Given the description of an element on the screen output the (x, y) to click on. 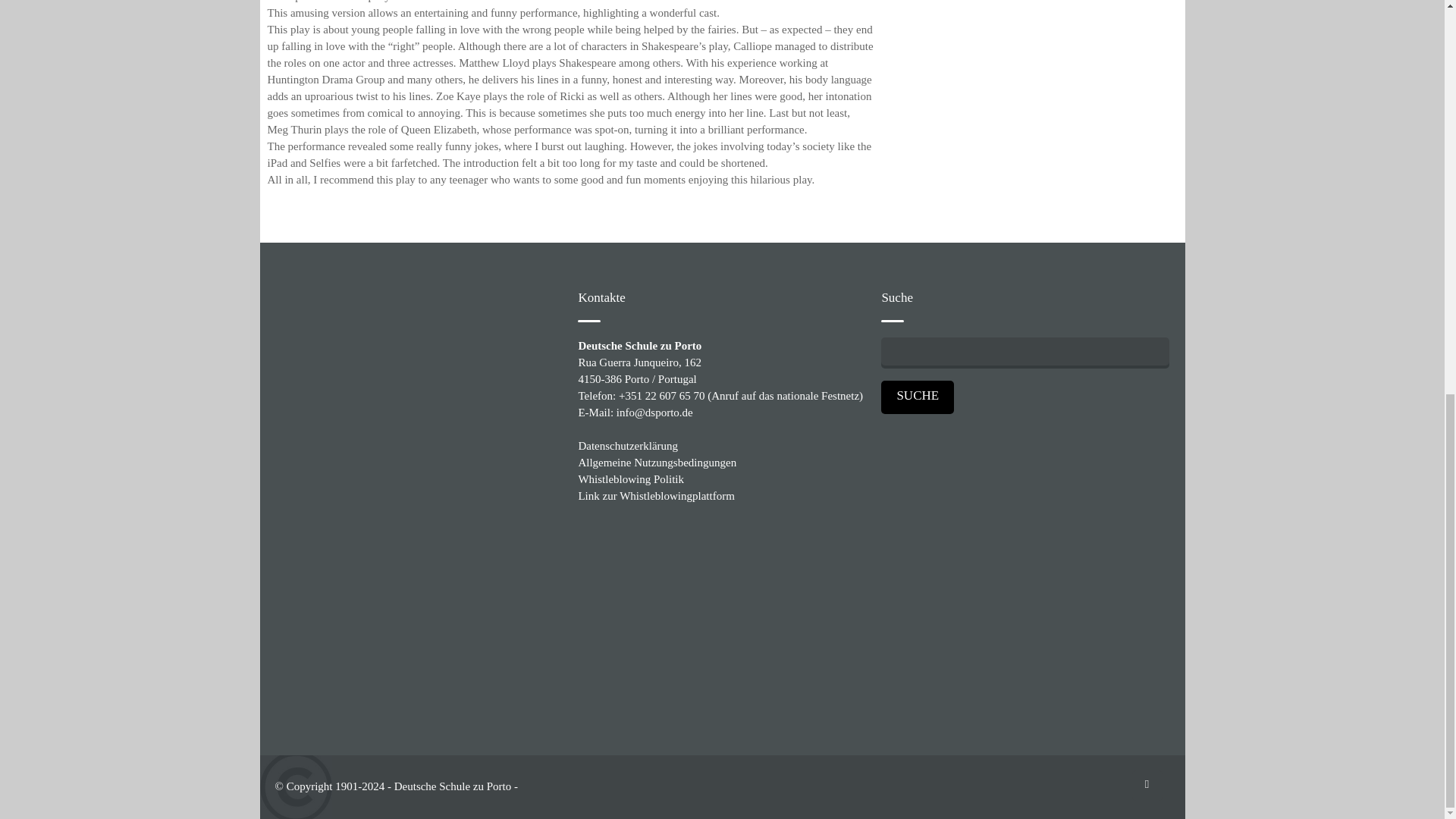
Suche (916, 395)
Link zur Whistleblowingplattform (655, 495)
Allgemeine Nutzungsbedingungen (657, 462)
Suche (916, 395)
Whistleblowing Politik (631, 479)
